Given the description of an element on the screen output the (x, y) to click on. 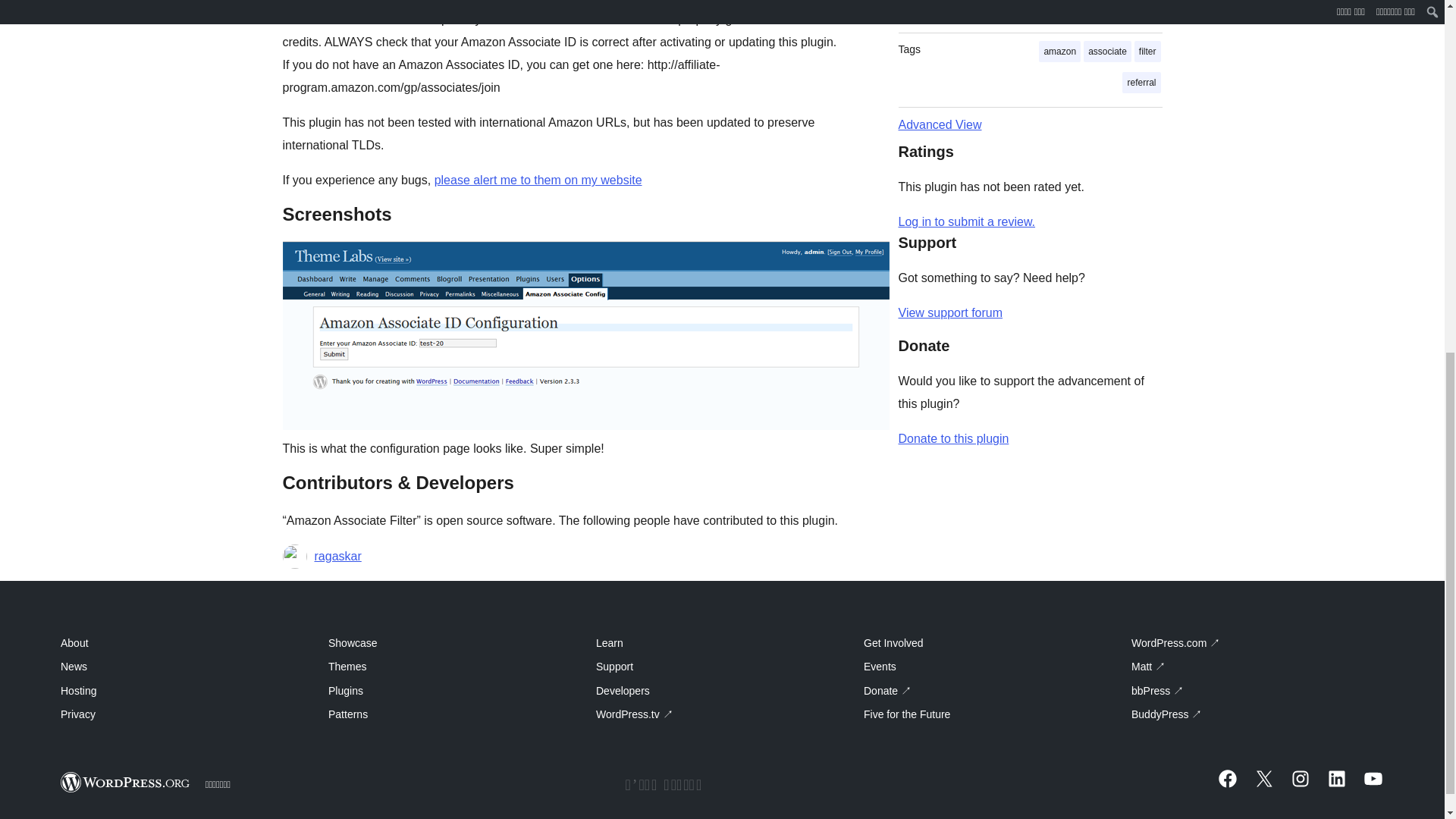
WordPress.org (125, 782)
ragaskar (337, 556)
Log in to WordPress.org (966, 221)
please alert me to them on my website (537, 179)
